Given the description of an element on the screen output the (x, y) to click on. 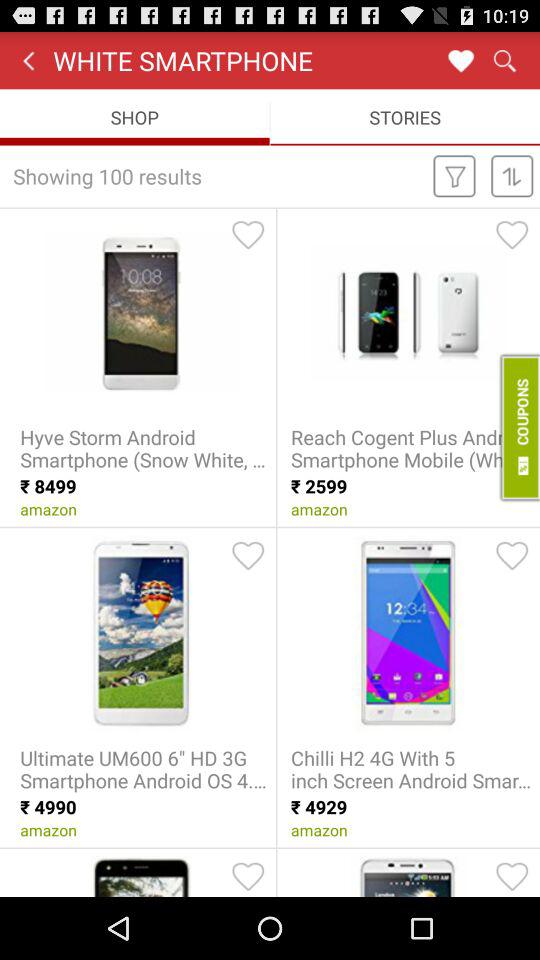
tap app above the chilli h2 4g icon (512, 555)
